Given the description of an element on the screen output the (x, y) to click on. 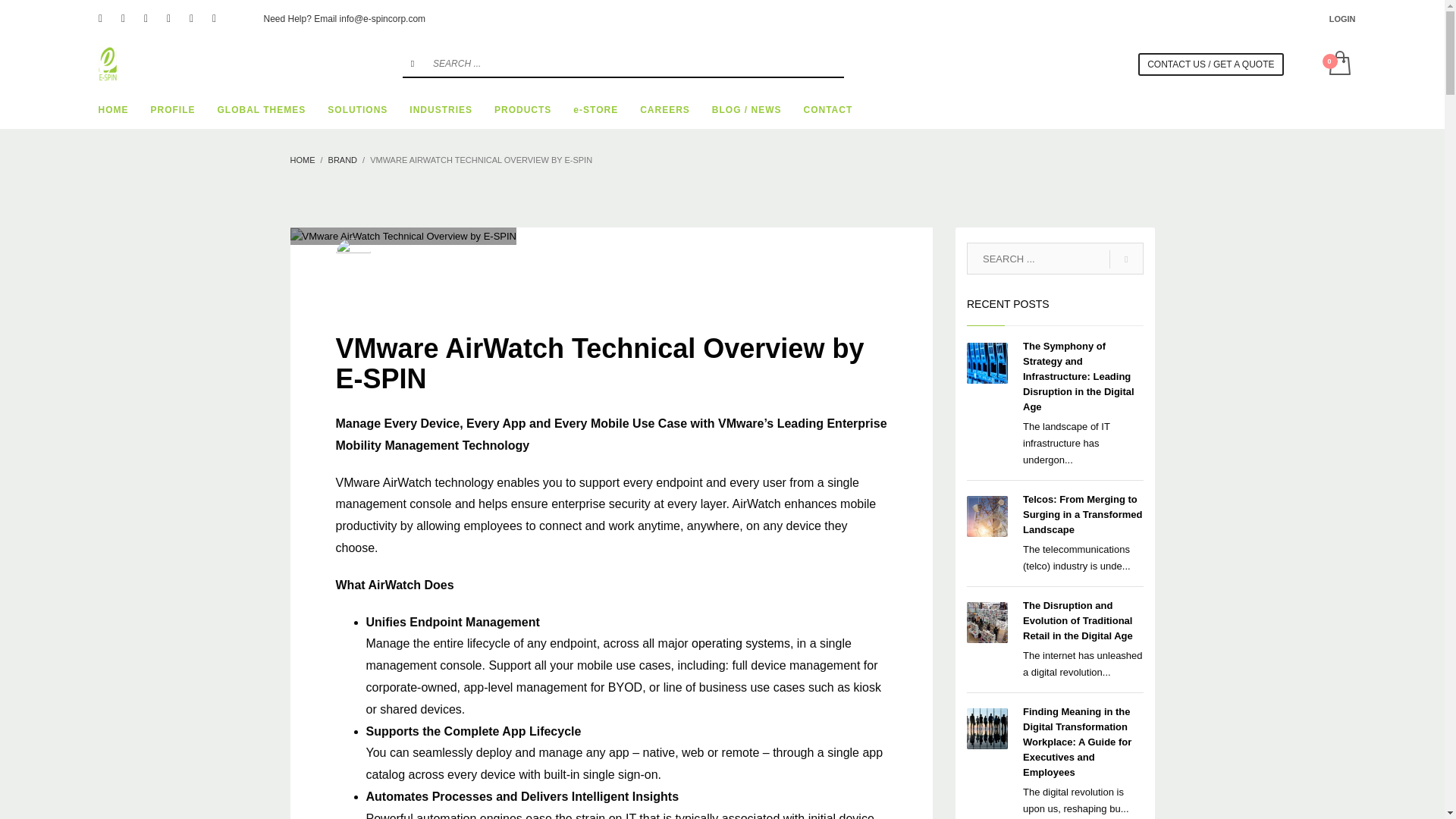
View your shopping cart (1338, 64)
Pinterest (146, 18)
LOGIN (1342, 18)
go (412, 63)
Twitter (123, 18)
HOME (113, 109)
LinkedIn (168, 18)
Edge Computing: Device Edge vs Cloud Edge (402, 236)
Facebook (100, 18)
WordPress (214, 18)
GLOBAL THEMES (261, 109)
SOLUTIONS (357, 109)
Contact-Us (1210, 64)
PROFILE (172, 109)
Posts by E-SPIN (402, 249)
